Given the description of an element on the screen output the (x, y) to click on. 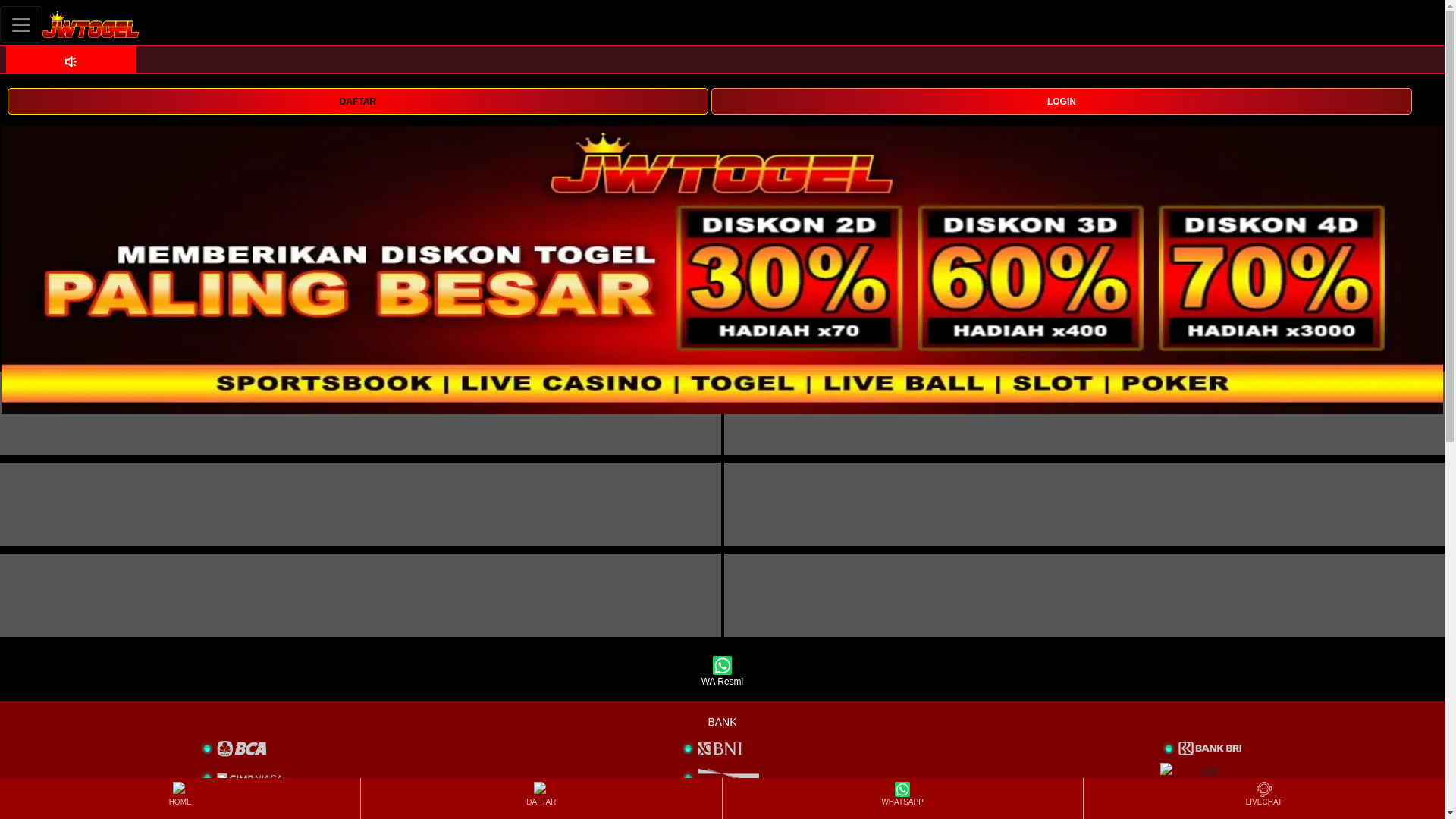
LOGIN (1061, 100)
DAFTAR (357, 100)
HOME (179, 798)
WHATSAPP (901, 798)
WA Resmi (722, 672)
DAFTAR (540, 798)
DAFTAR (357, 100)
LIVECHAT (1263, 798)
LOGIN (1061, 100)
